Given the description of an element on the screen output the (x, y) to click on. 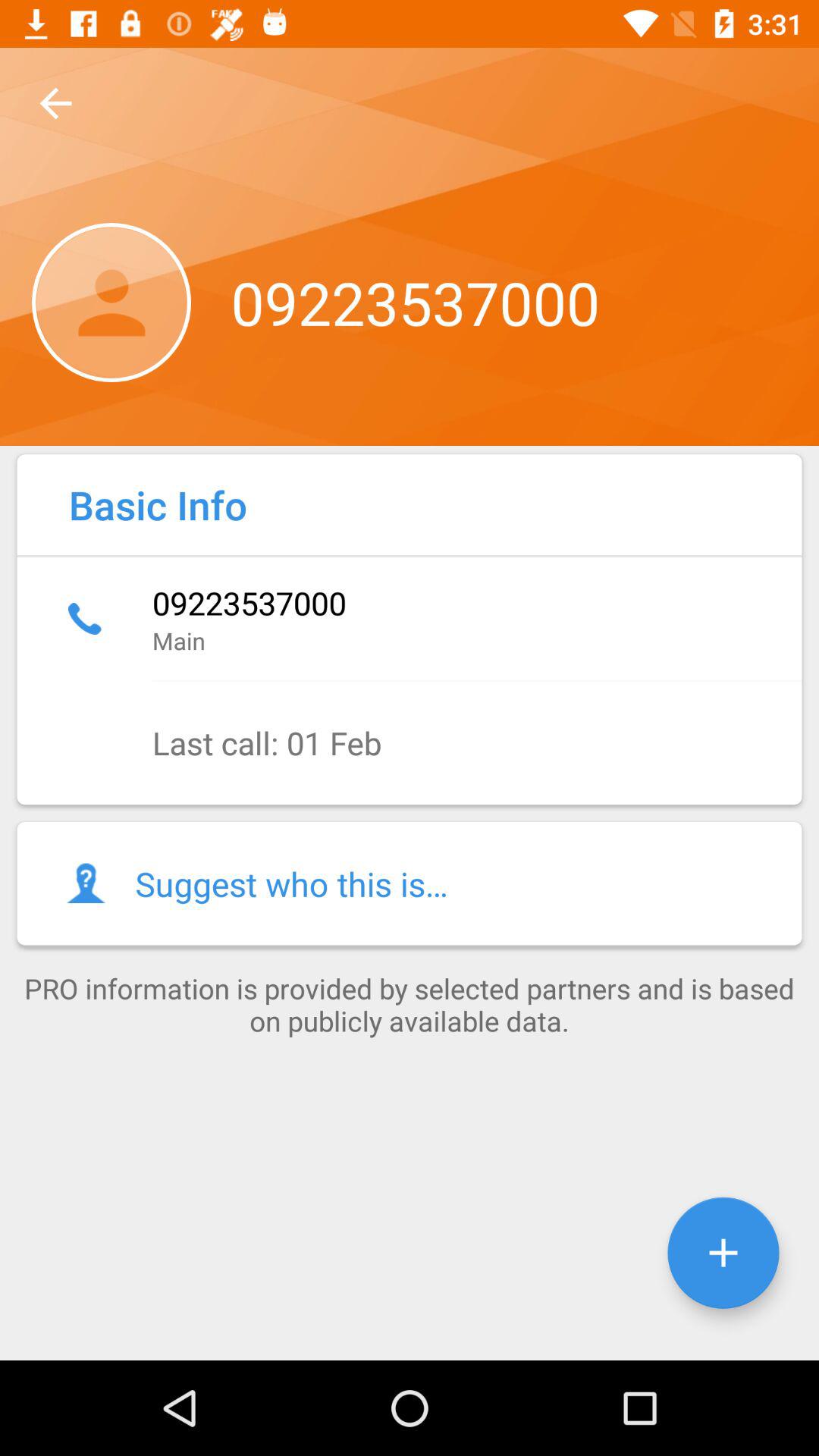
swipe to the last call 01 (409, 742)
